Given the description of an element on the screen output the (x, y) to click on. 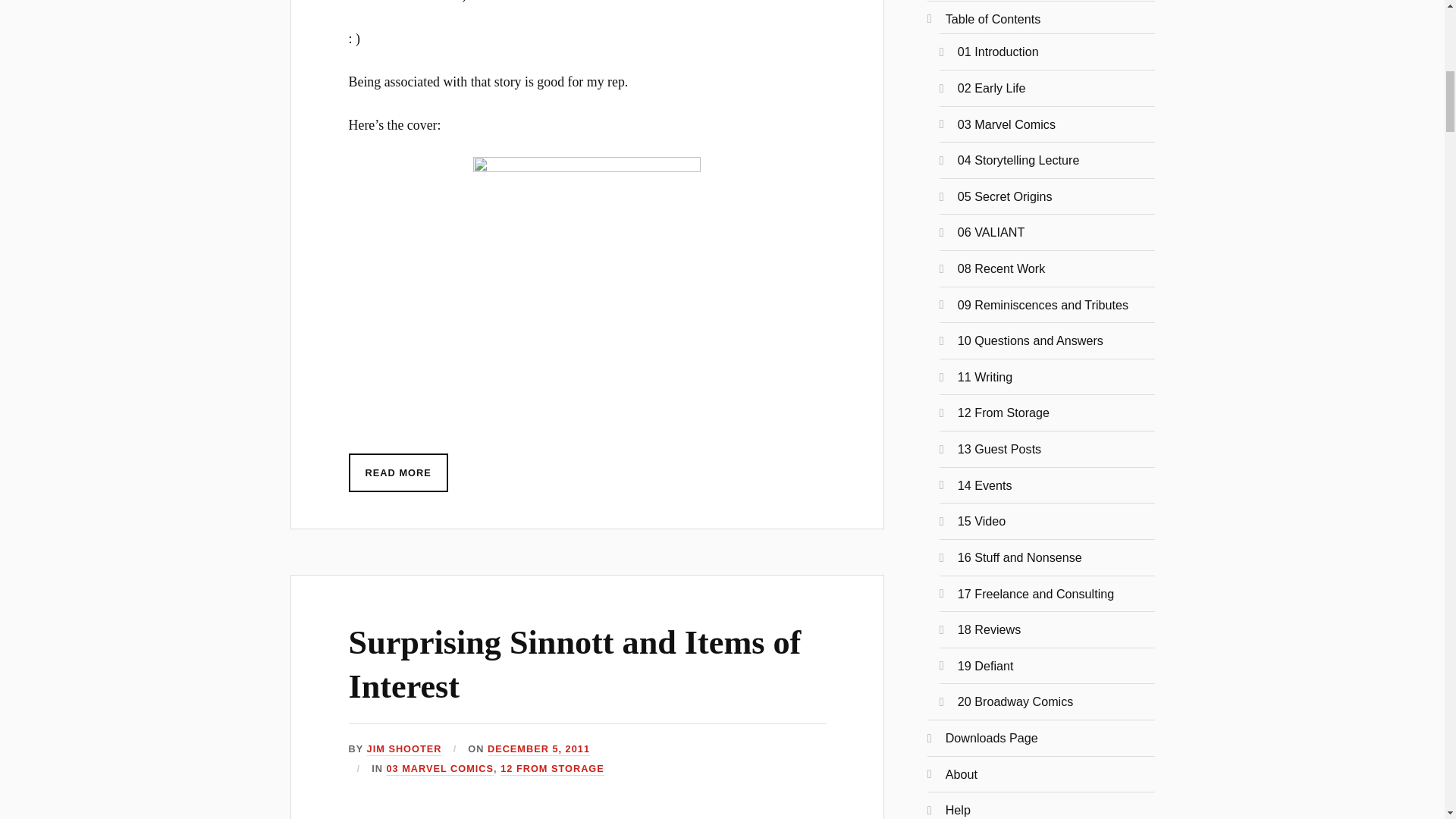
Posts by Jim Shooter (404, 748)
